Given the description of an element on the screen output the (x, y) to click on. 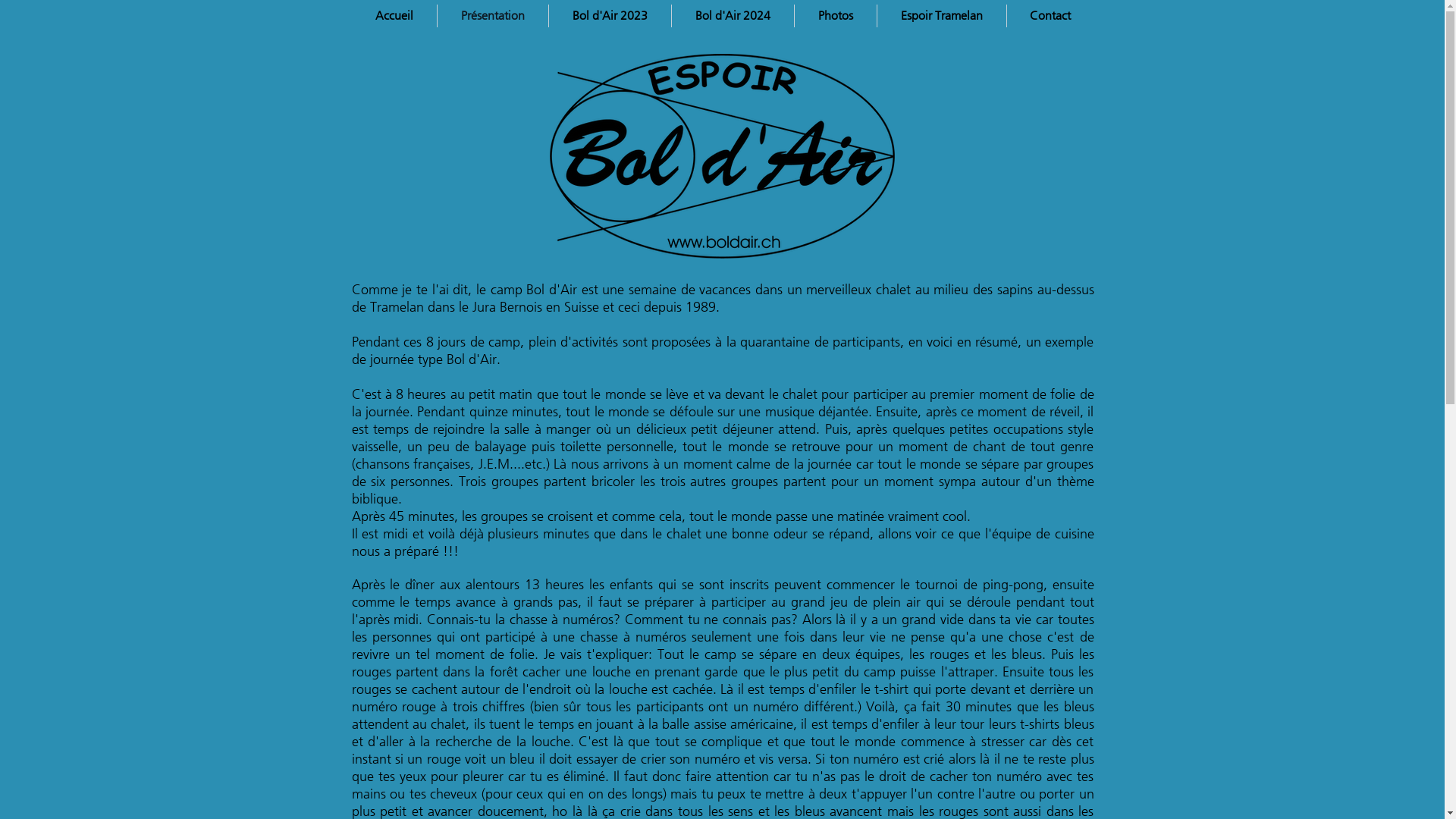
Accueil Element type: text (393, 15)
Contact Element type: text (1050, 15)
Bol d'Air 2024 Element type: text (732, 15)
Bol d'Air 2023 Element type: text (610, 15)
Photos Element type: text (835, 15)
Espoir Tramelan Element type: text (940, 15)
